Given the description of an element on the screen output the (x, y) to click on. 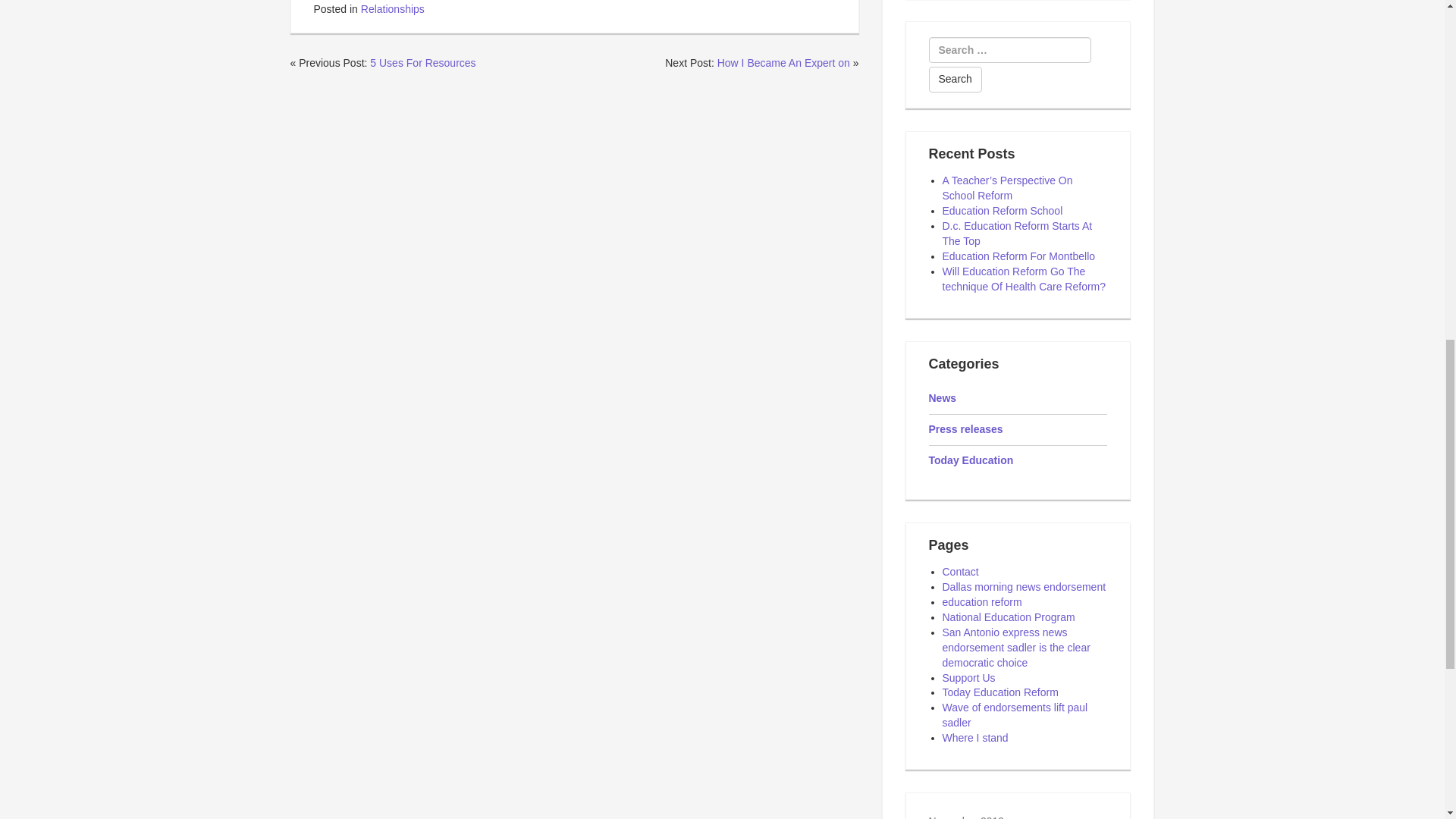
Relationships (393, 9)
5 Uses For Resources (422, 62)
D.c. Education Reform Starts At The Top (1017, 233)
How I Became An Expert on (783, 62)
Search (954, 79)
Education Reform School (1002, 210)
Search (954, 79)
Search (954, 79)
